Given the description of an element on the screen output the (x, y) to click on. 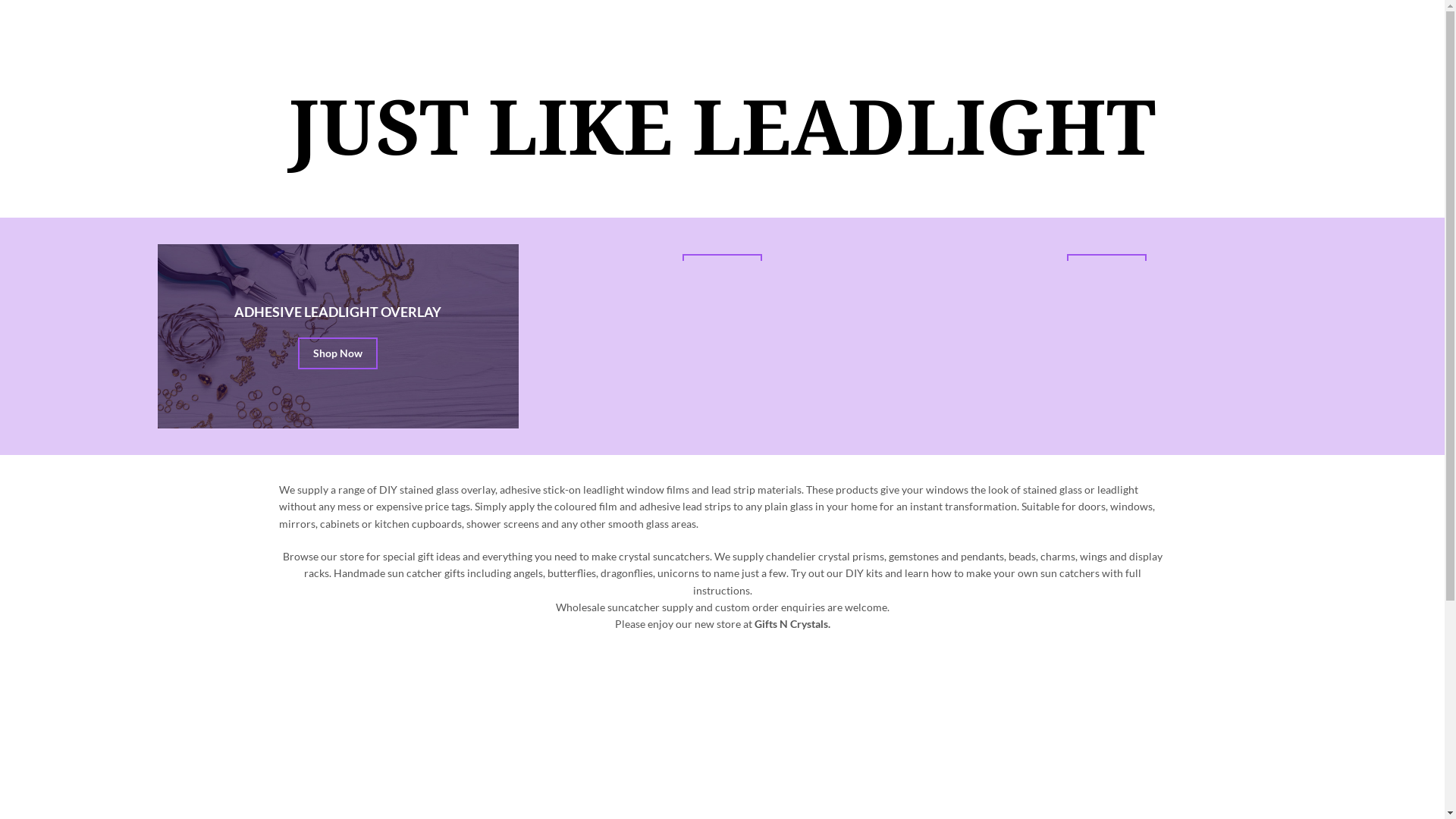
Shop Now Element type: text (722, 269)
Shop Now Element type: text (337, 353)
Shop Now Element type: text (1106, 269)
